Given the description of an element on the screen output the (x, y) to click on. 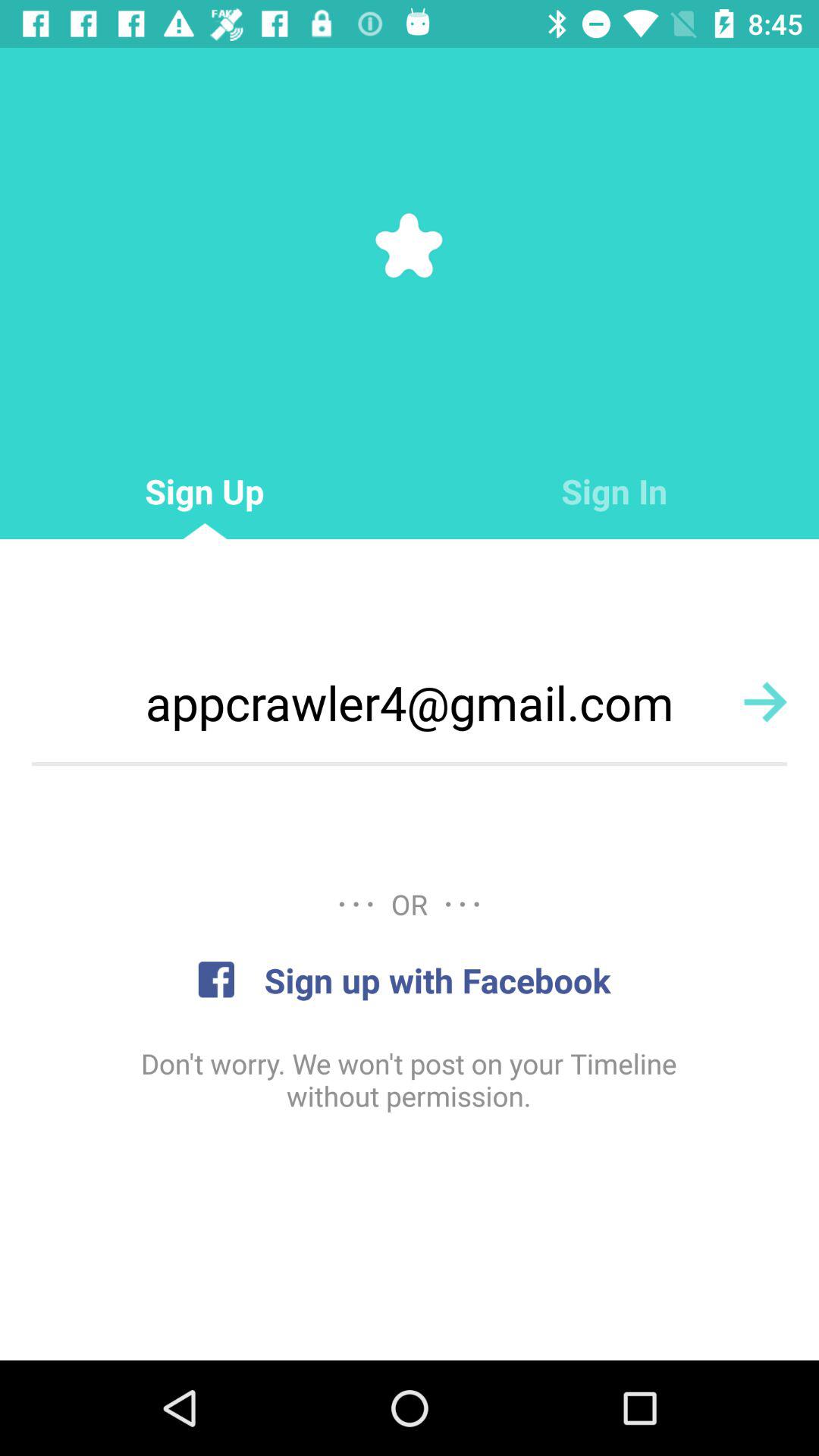
choose the item above the appcrawler4@gmail.com icon (614, 491)
